Given the description of an element on the screen output the (x, y) to click on. 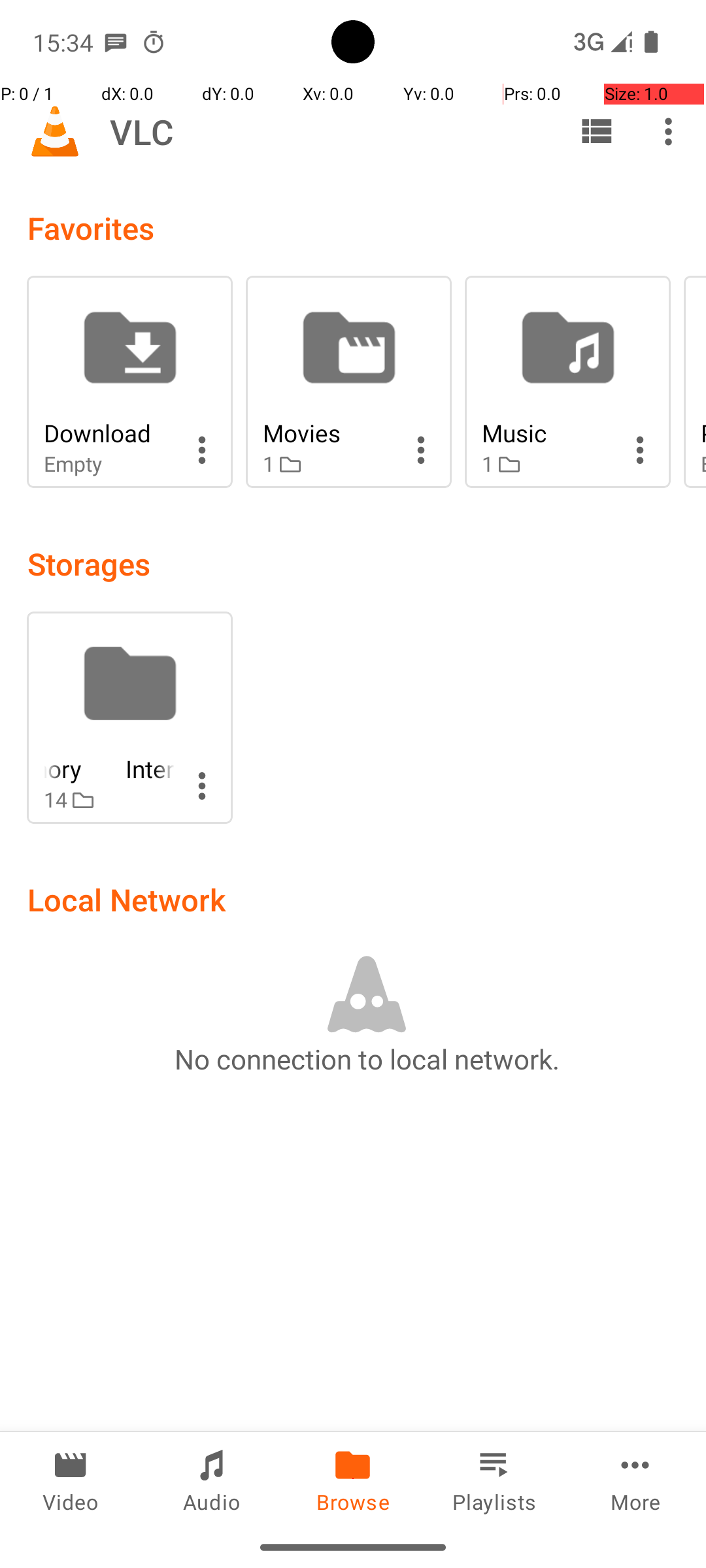
Favorite: Download, Empty Element type: androidx.cardview.widget.CardView (129, 381)
Favorite: Music, 1 subfolder Element type: androidx.cardview.widget.CardView (567, 381)
Favorite: Podcasts, Empty Element type: androidx.cardview.widget.CardView (694, 381)
Folder: Internal memory, 14 subfolders Element type: androidx.cardview.widget.CardView (129, 717)
14 §*§ Element type: android.widget.TextView (108, 799)
